Given the description of an element on the screen output the (x, y) to click on. 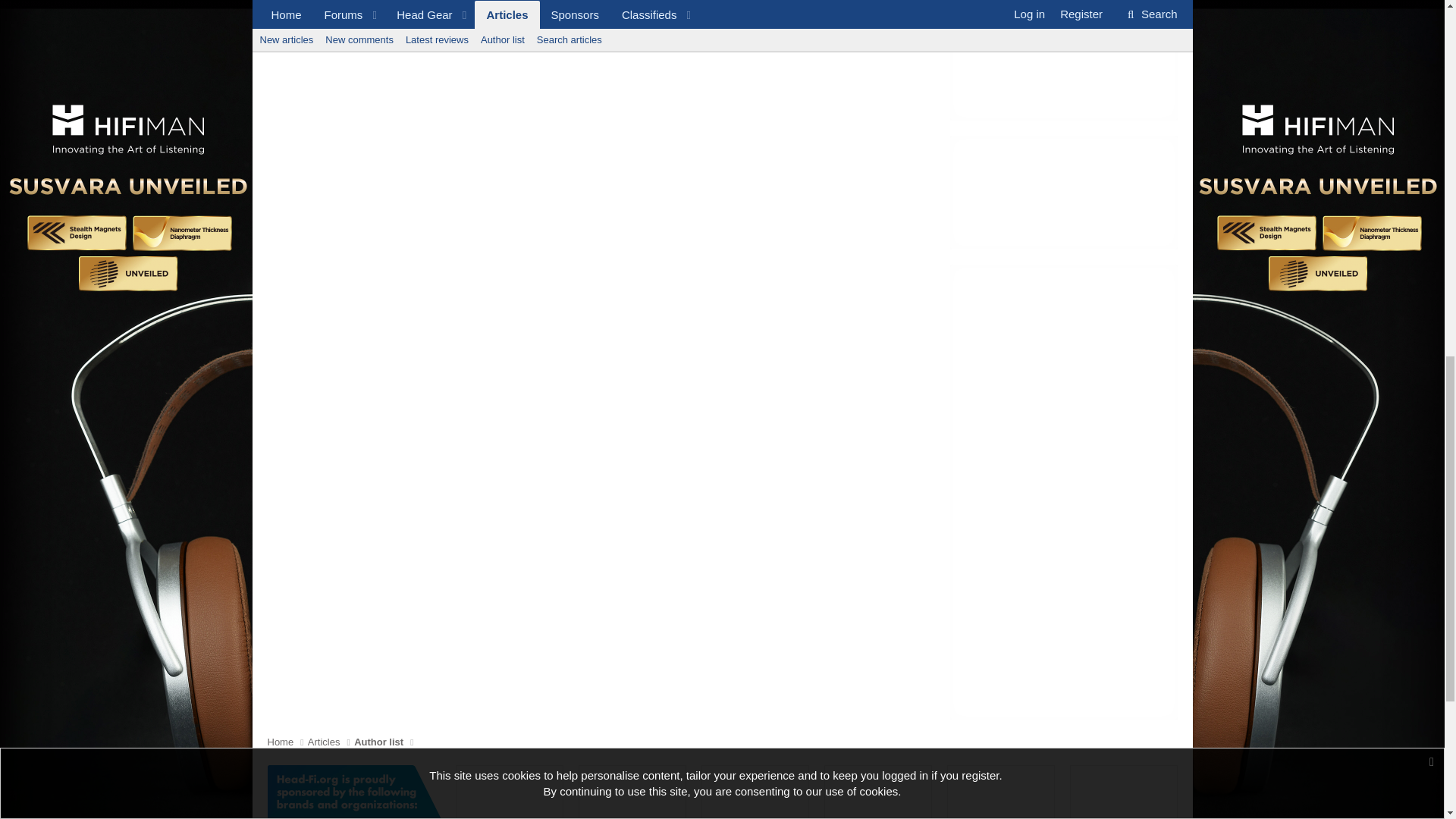
3rd party ad content (878, 792)
3rd party ad content (754, 792)
3rd party ad content (1062, 60)
3rd party ad content (509, 792)
3rd party ad content (1123, 792)
3rd party ad content (1062, 192)
3rd party ad content (1000, 792)
3rd party ad content (632, 792)
